Given the description of an element on the screen output the (x, y) to click on. 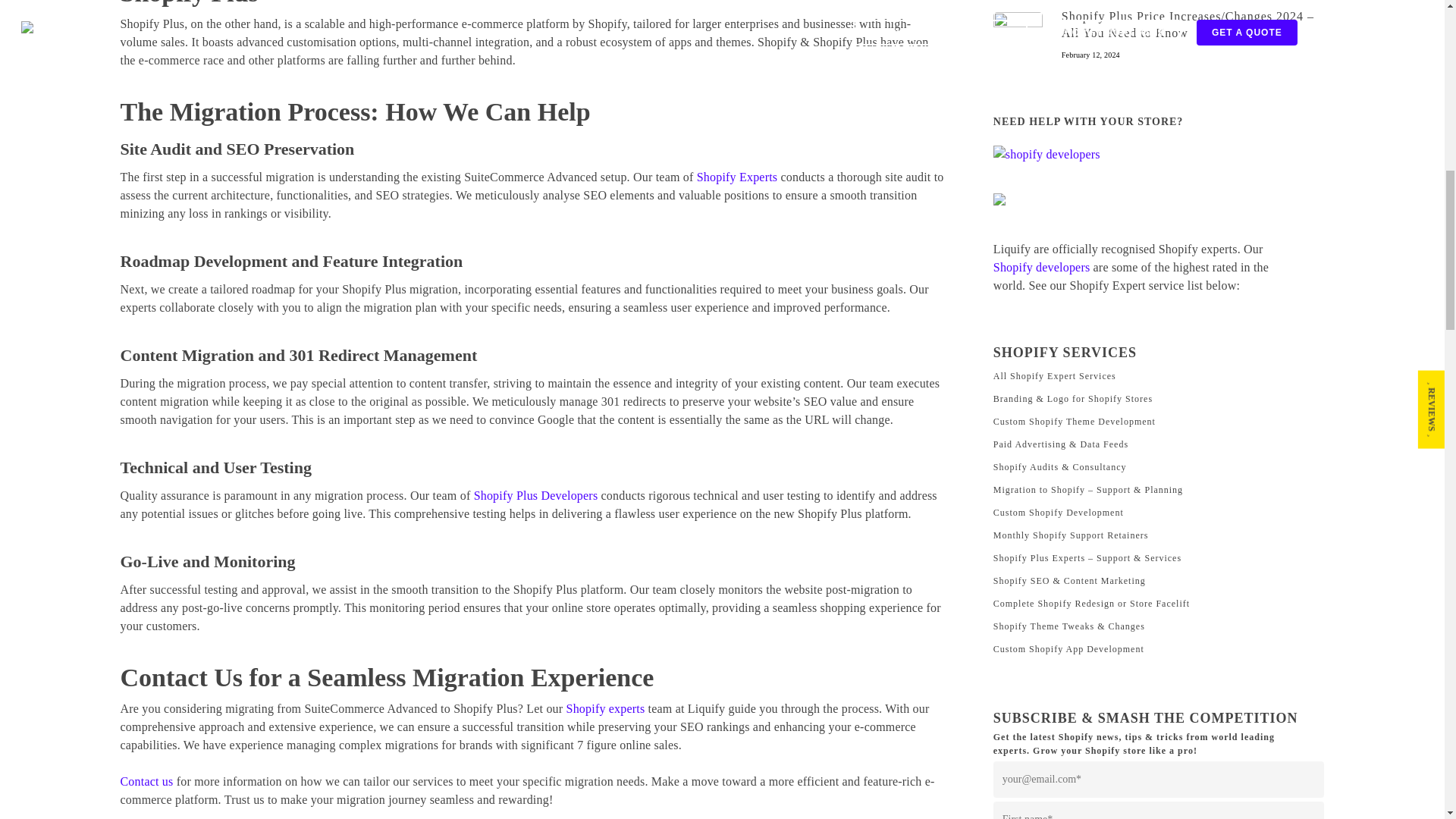
Monthly Shopify Support Retainers (1158, 535)
Custom Shopify Theme Development (1158, 421)
Contact us (146, 780)
Shopify experts (605, 707)
Custom Shopify Development (1158, 512)
All Shopify Expert Services (1158, 375)
Shopify Experts (737, 176)
Shopify Plus Developers (536, 495)
Shopify developers (1041, 267)
